Given the description of an element on the screen output the (x, y) to click on. 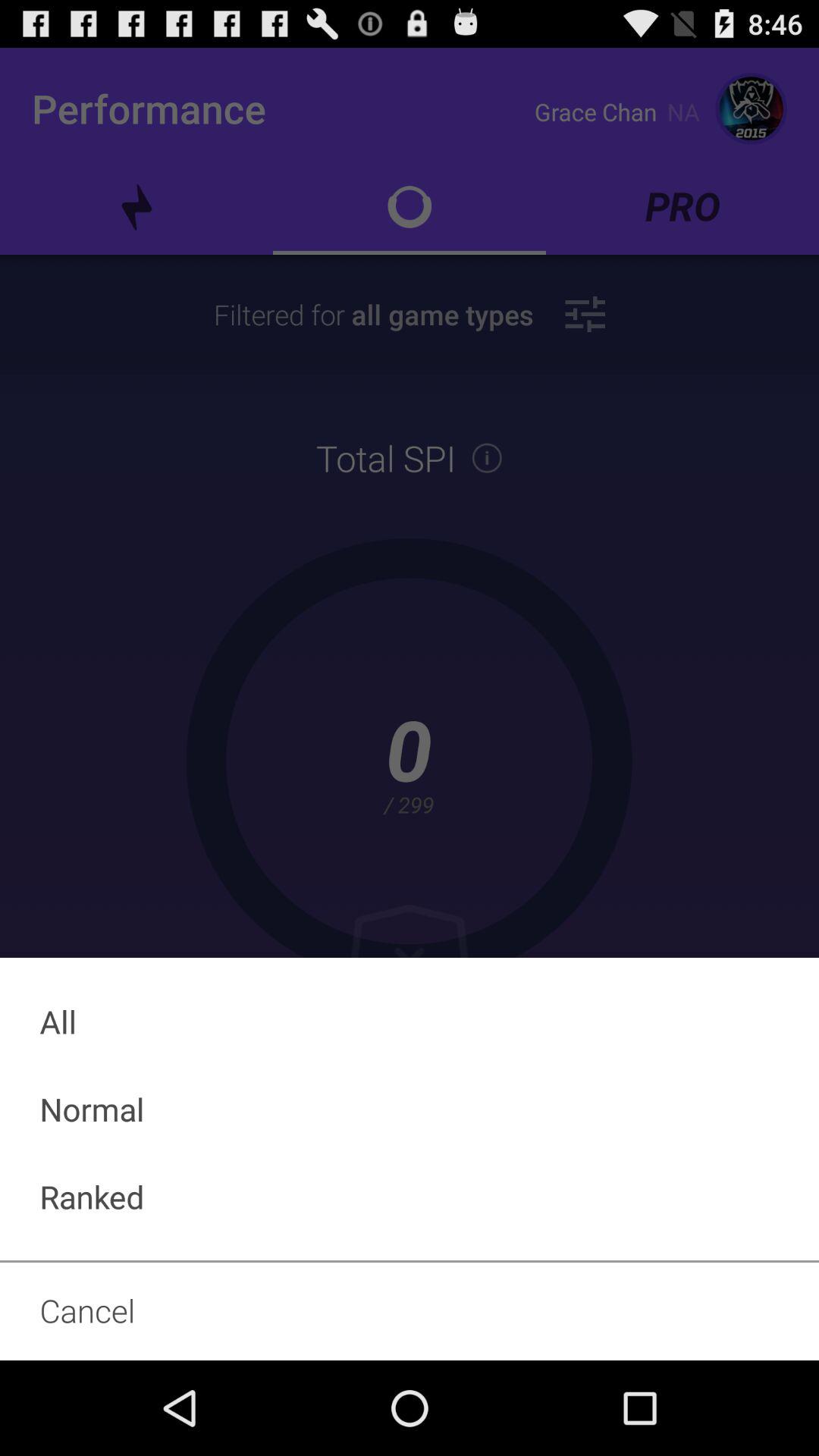
swipe until the cancel (409, 1310)
